Given the description of an element on the screen output the (x, y) to click on. 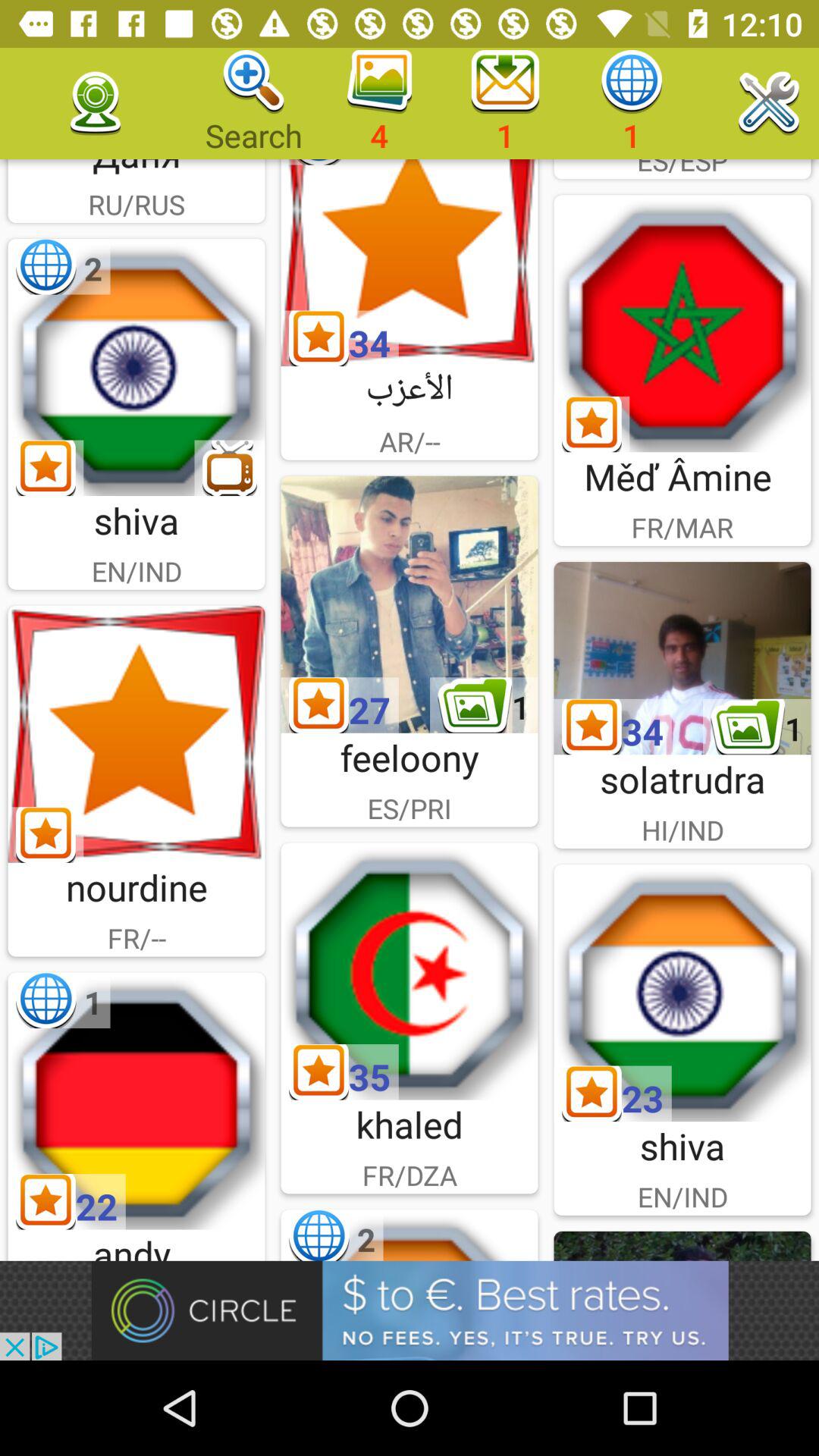
select user (409, 970)
